Given the description of an element on the screen output the (x, y) to click on. 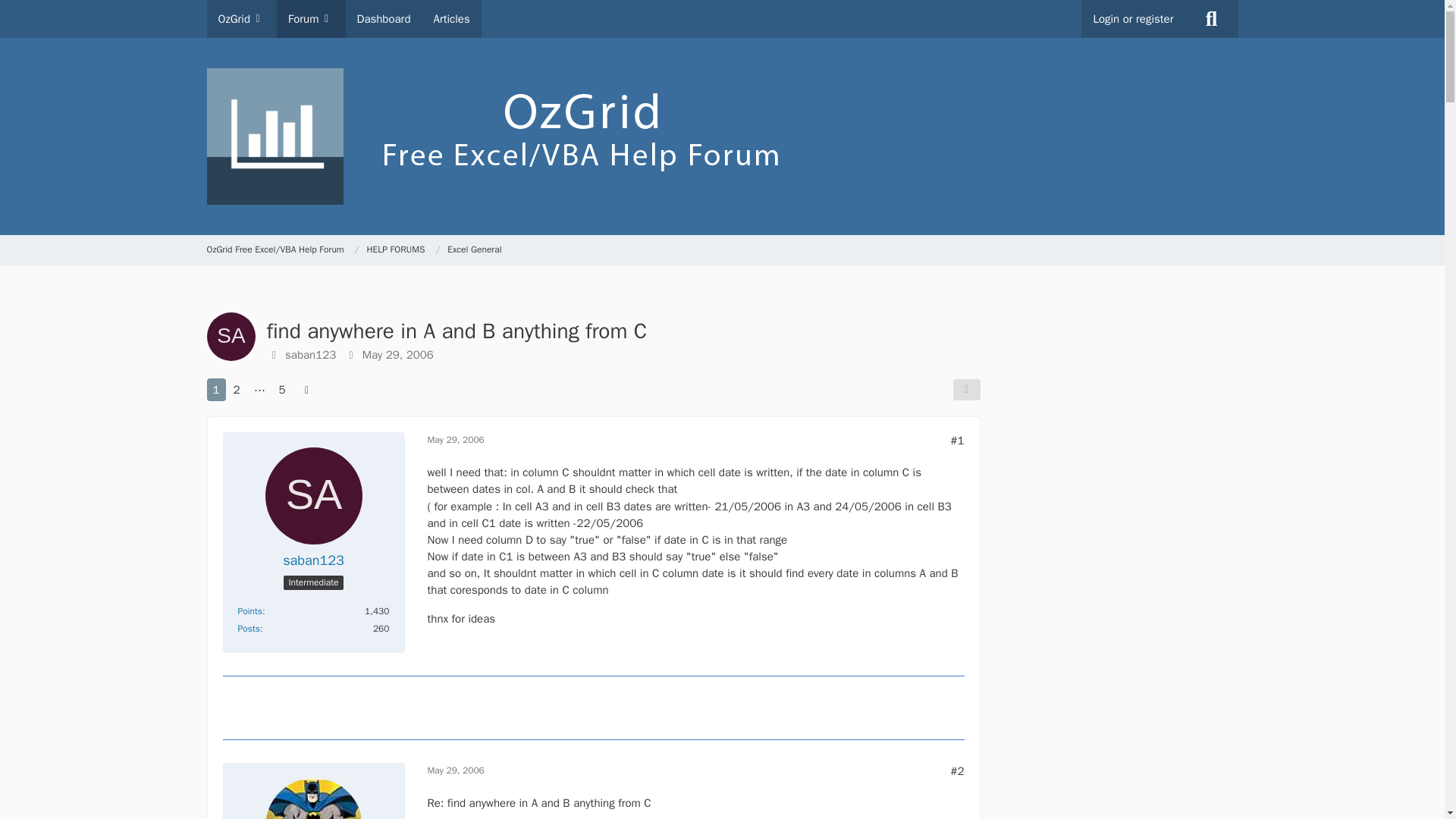
Posts (249, 628)
Points (250, 611)
HELP FORUMS (395, 250)
Dashboard (384, 18)
HELP FORUMS (403, 250)
saban123 (312, 560)
Login or register (1133, 18)
May 29, 2006May 29, 2006 at 7:53 PM (397, 354)
saban123 (310, 354)
May 29, 2006May 29, 2006 at 7:53 PM (456, 439)
Articles (451, 18)
Excel General (473, 250)
